Given the description of an element on the screen output the (x, y) to click on. 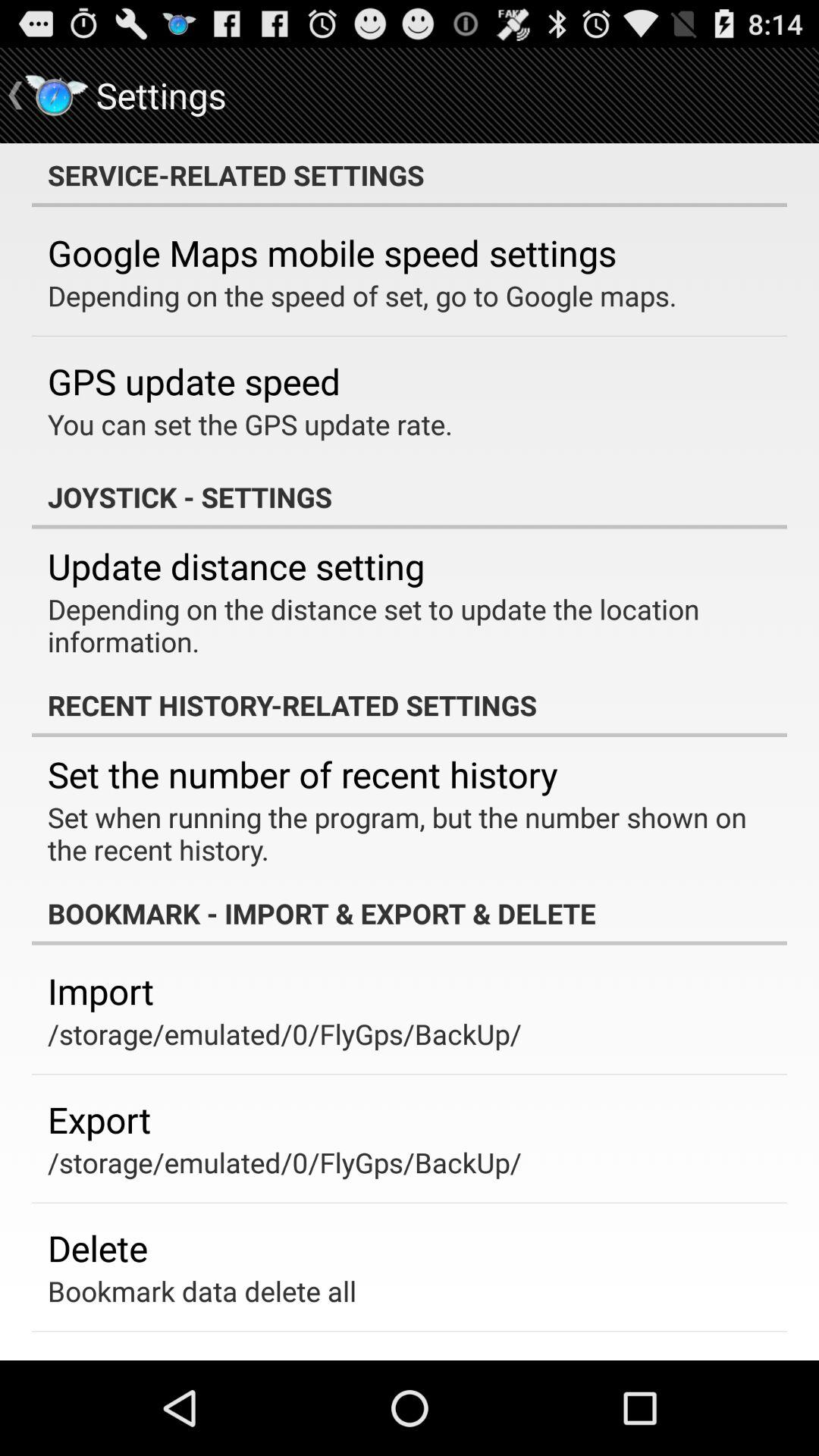
select joystick - settings (409, 496)
